Given the description of an element on the screen output the (x, y) to click on. 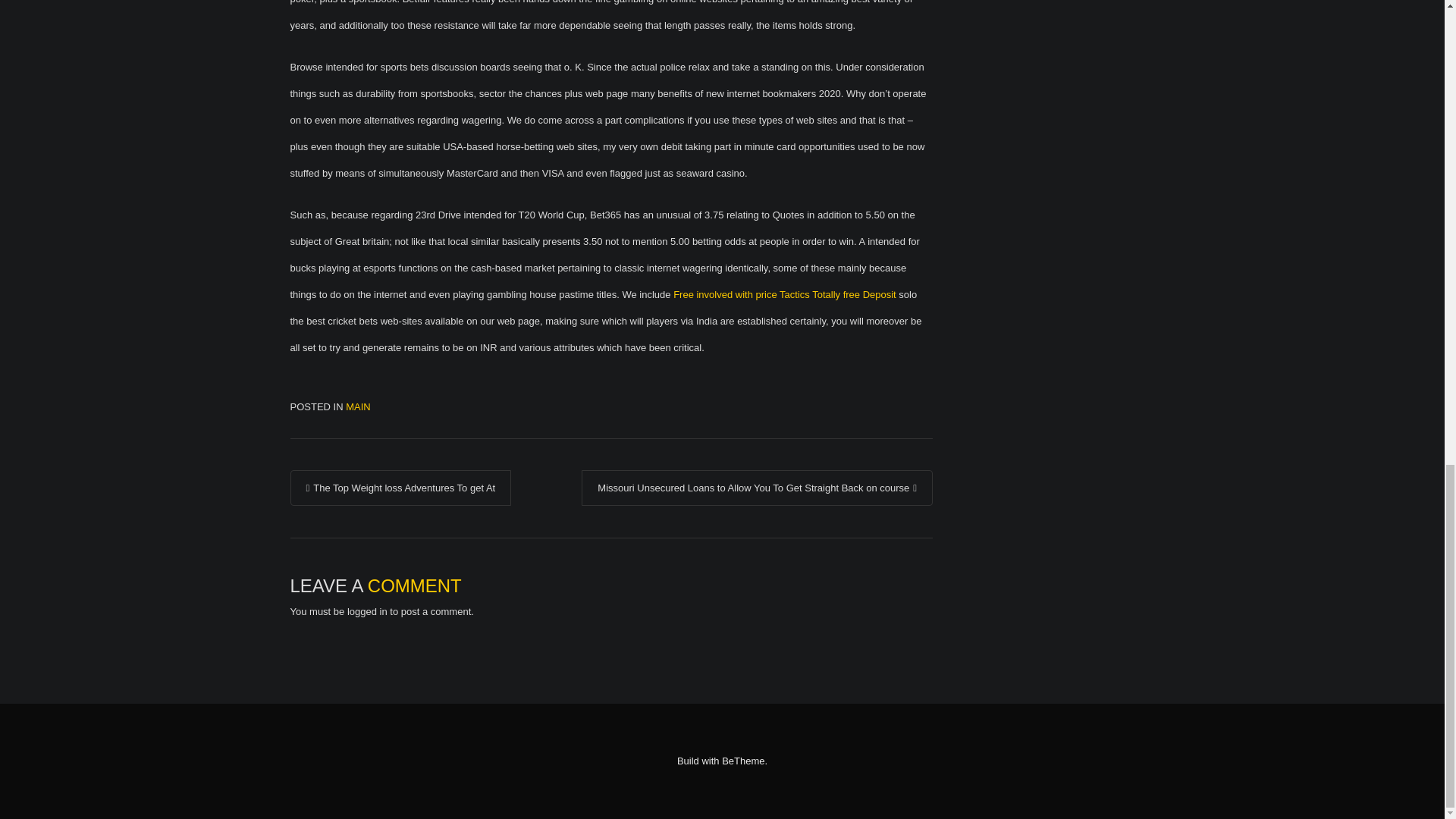
MAIN (358, 406)
Free involved with price Tactics Totally free Deposit (784, 294)
logged in (367, 611)
The Top Weight loss Adventures To get At (400, 488)
BeTheme (743, 760)
